Given the description of an element on the screen output the (x, y) to click on. 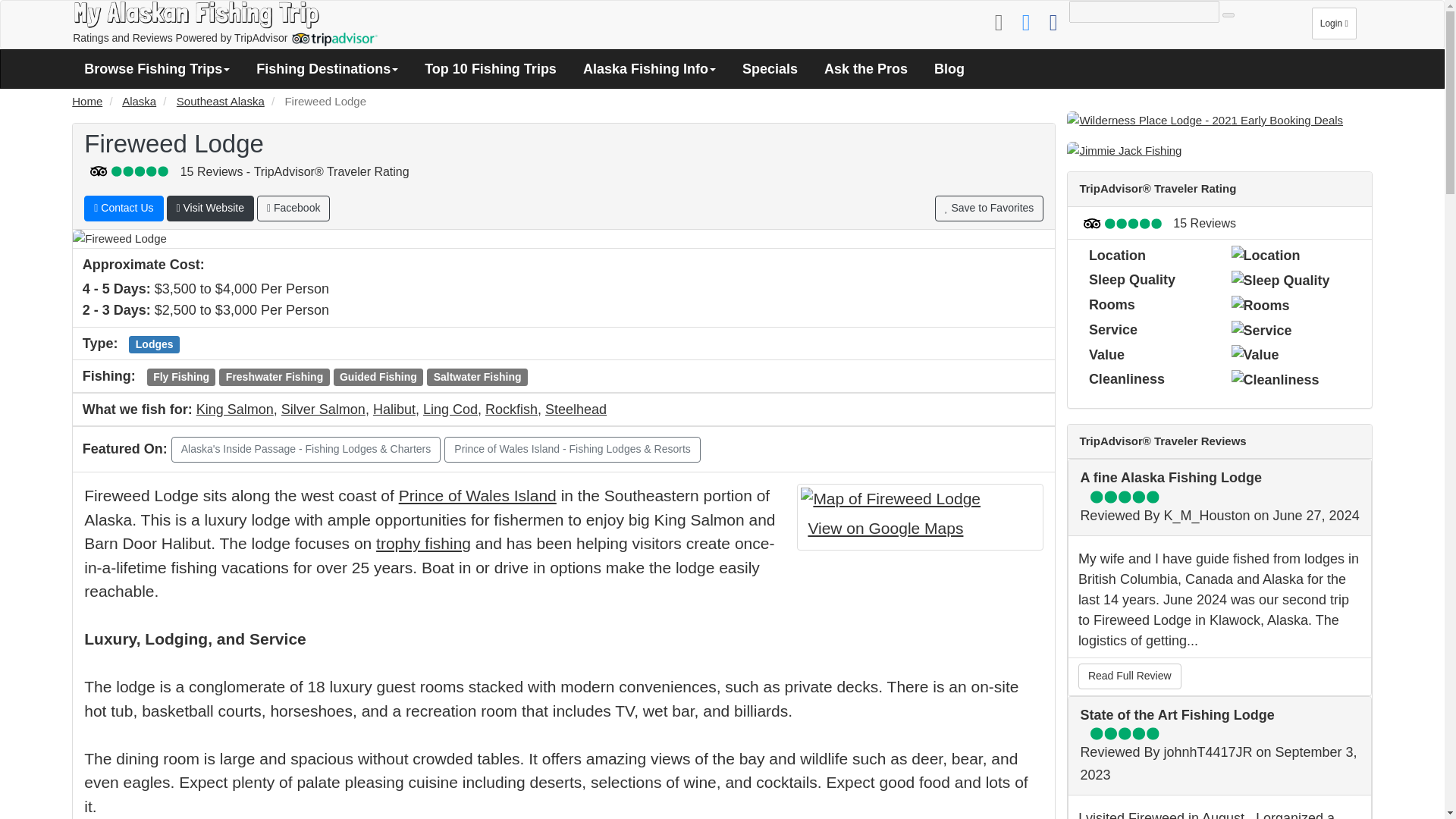
Login (1333, 23)
Browse Fishing Trips (156, 68)
Fishing Destinations (326, 68)
Login (1334, 25)
